Given the description of an element on the screen output the (x, y) to click on. 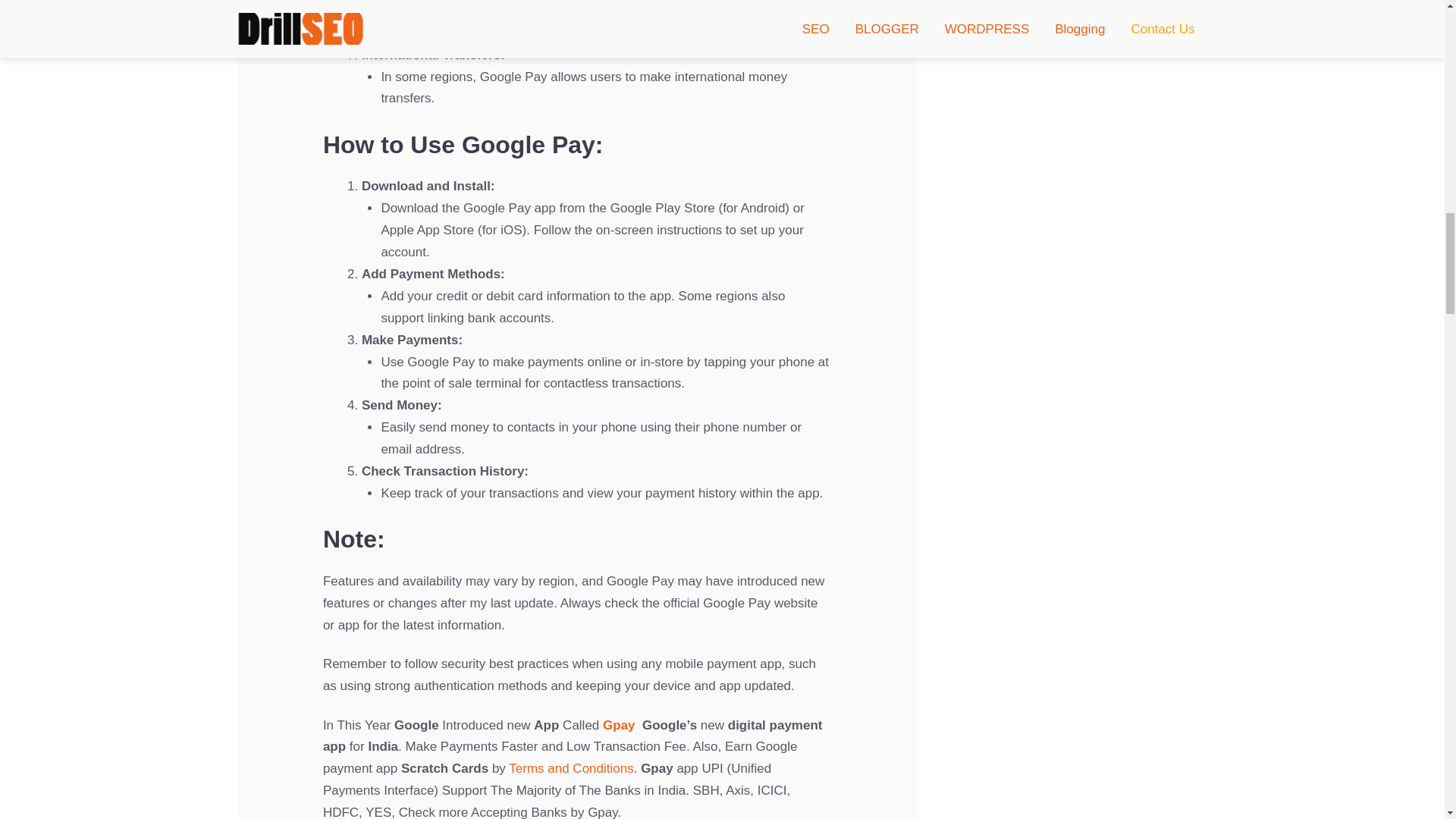
Gpay (618, 725)
Terms and Conditions (570, 768)
